Given the description of an element on the screen output the (x, y) to click on. 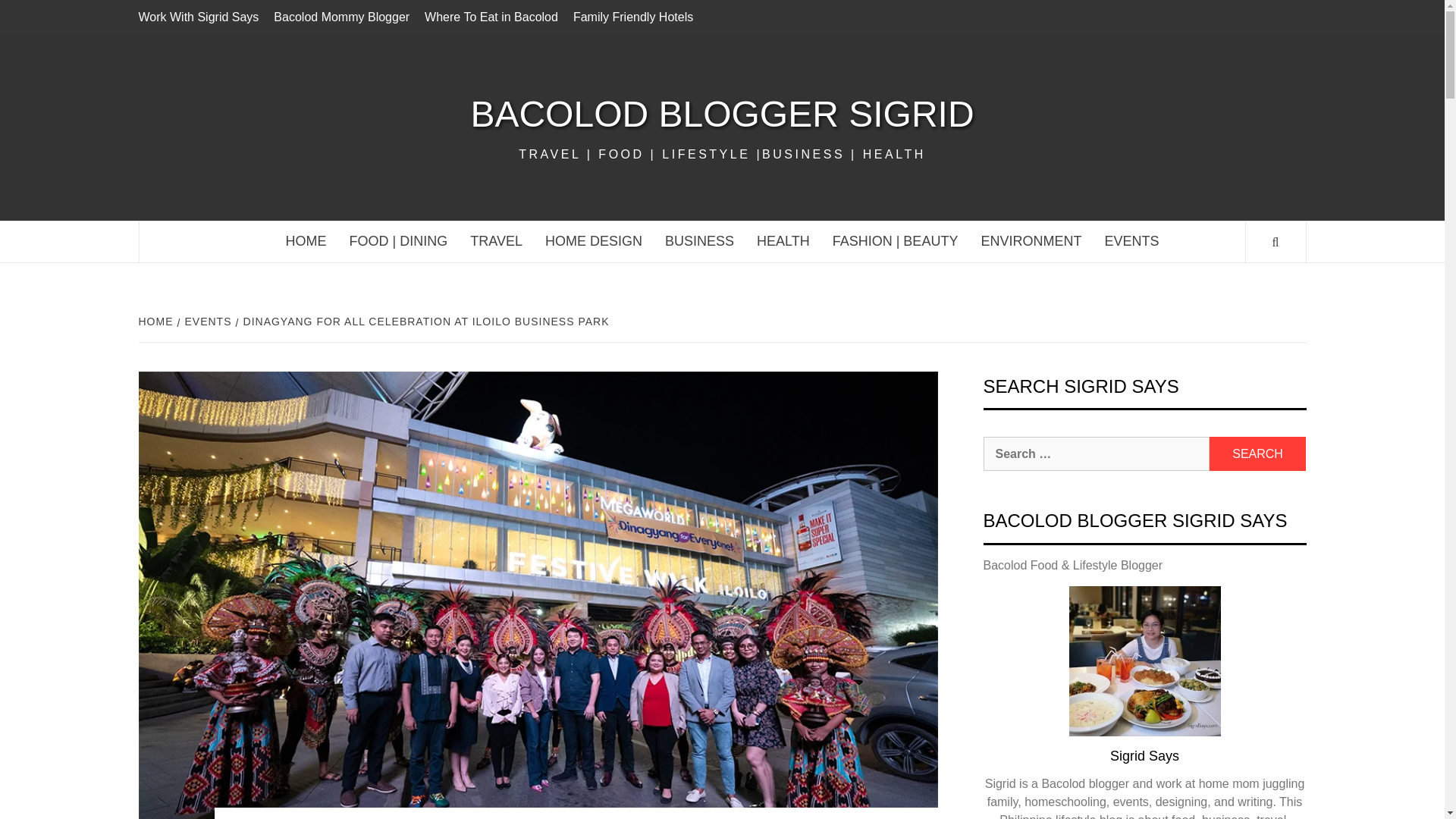
Bacolod Mommy Blogger (341, 17)
DINAGYANG FOR ALL CELEBRATION AT ILOILO BUSINESS PARK (423, 321)
Work With Sigrid Says (202, 17)
Search (1257, 453)
HOME (306, 241)
Family Travel: Family Friendly Hotels (633, 17)
Destinations and Travel Tips (496, 241)
EVENTS (1131, 241)
News (1131, 241)
BUSINESS (699, 241)
List of Bacolod restaurants (491, 17)
ENVIRONMENT (1031, 241)
Bacolod Restaurants (398, 241)
Family Friendly Hotels (633, 17)
HOME (157, 321)
